Given the description of an element on the screen output the (x, y) to click on. 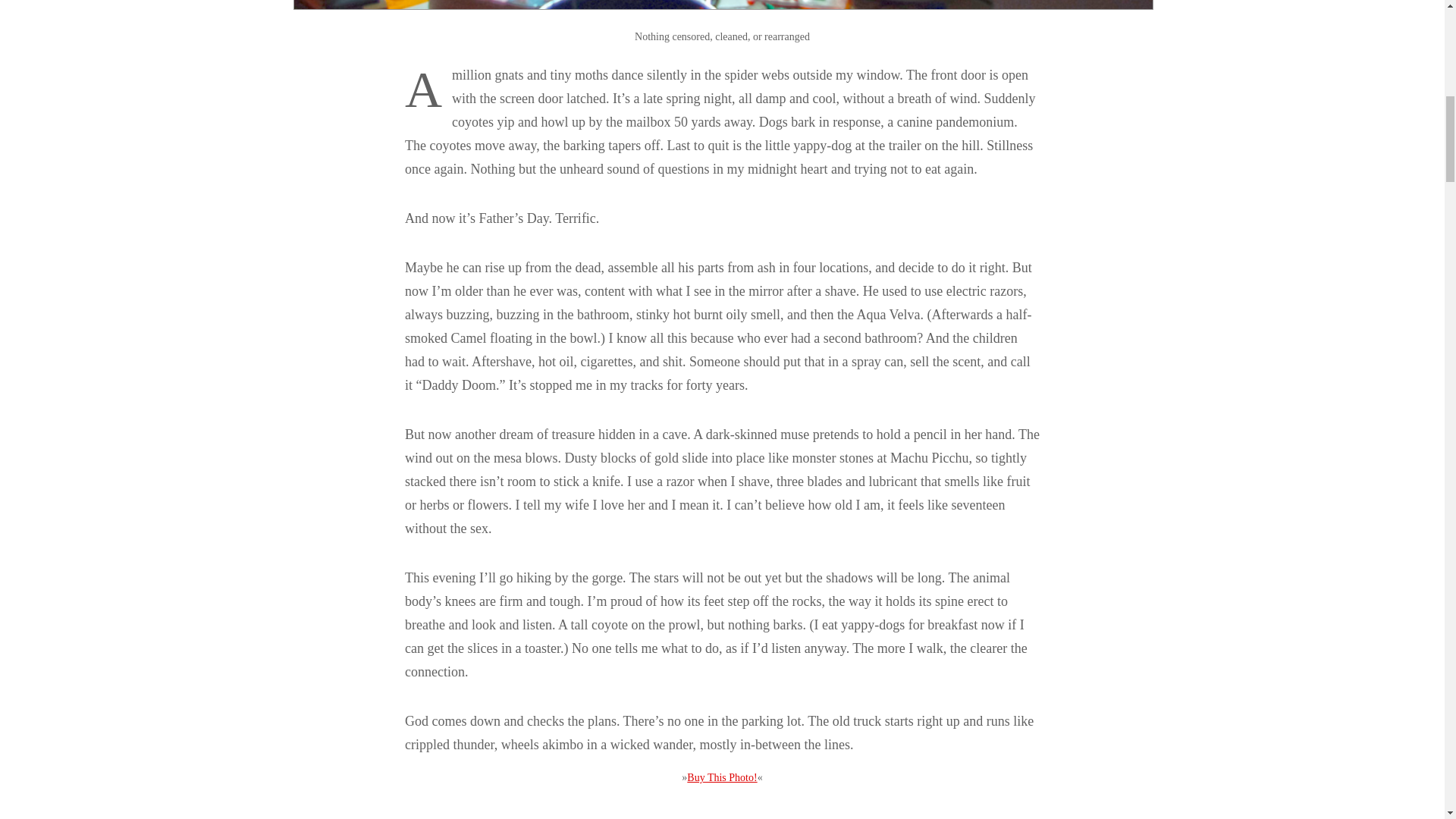
Buy This Photo! (722, 777)
